Given the description of an element on the screen output the (x, y) to click on. 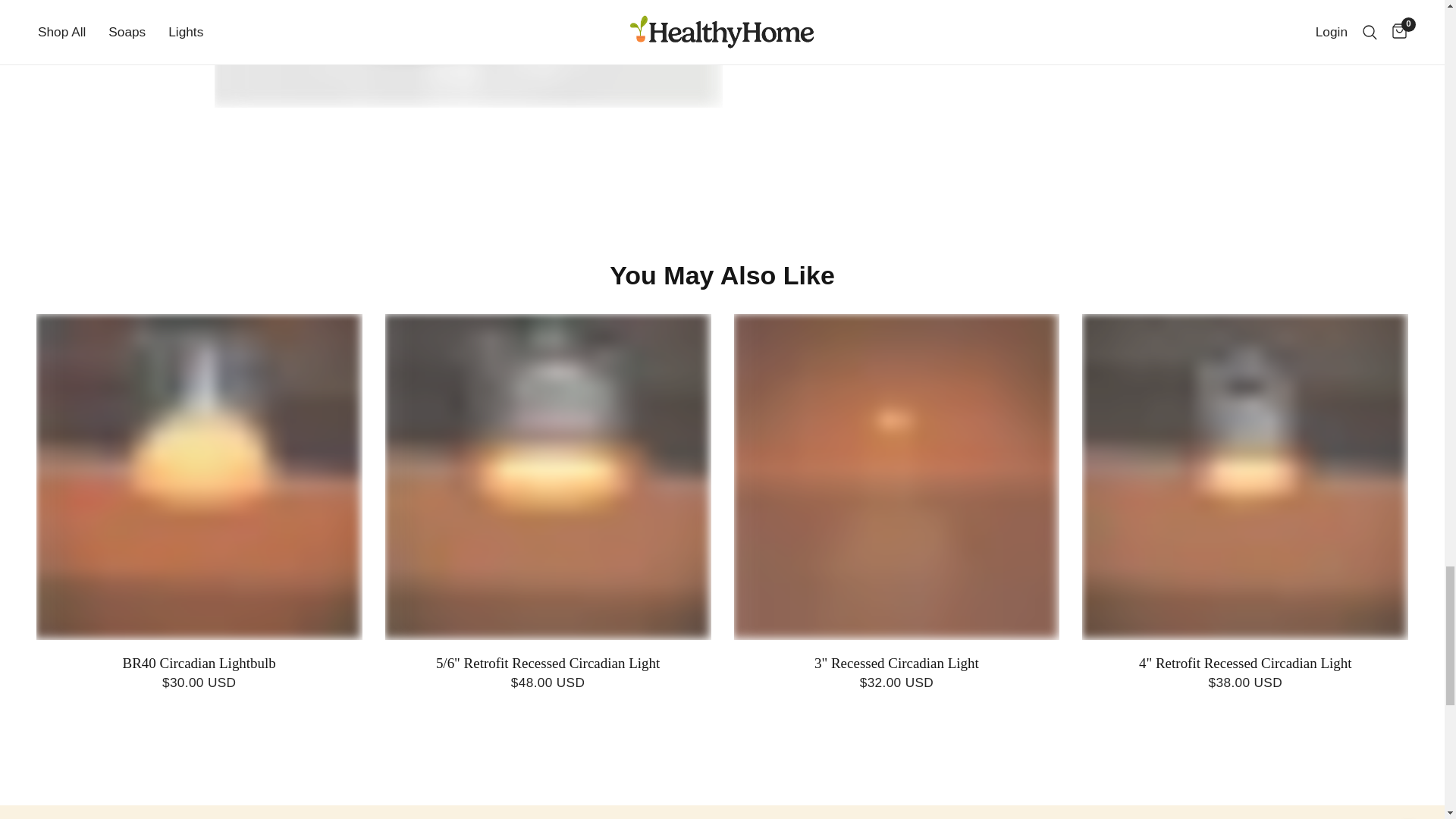
3" Recessed Circadian Light (896, 663)
BR40 Circadian Lightbulb (199, 663)
